Given the description of an element on the screen output the (x, y) to click on. 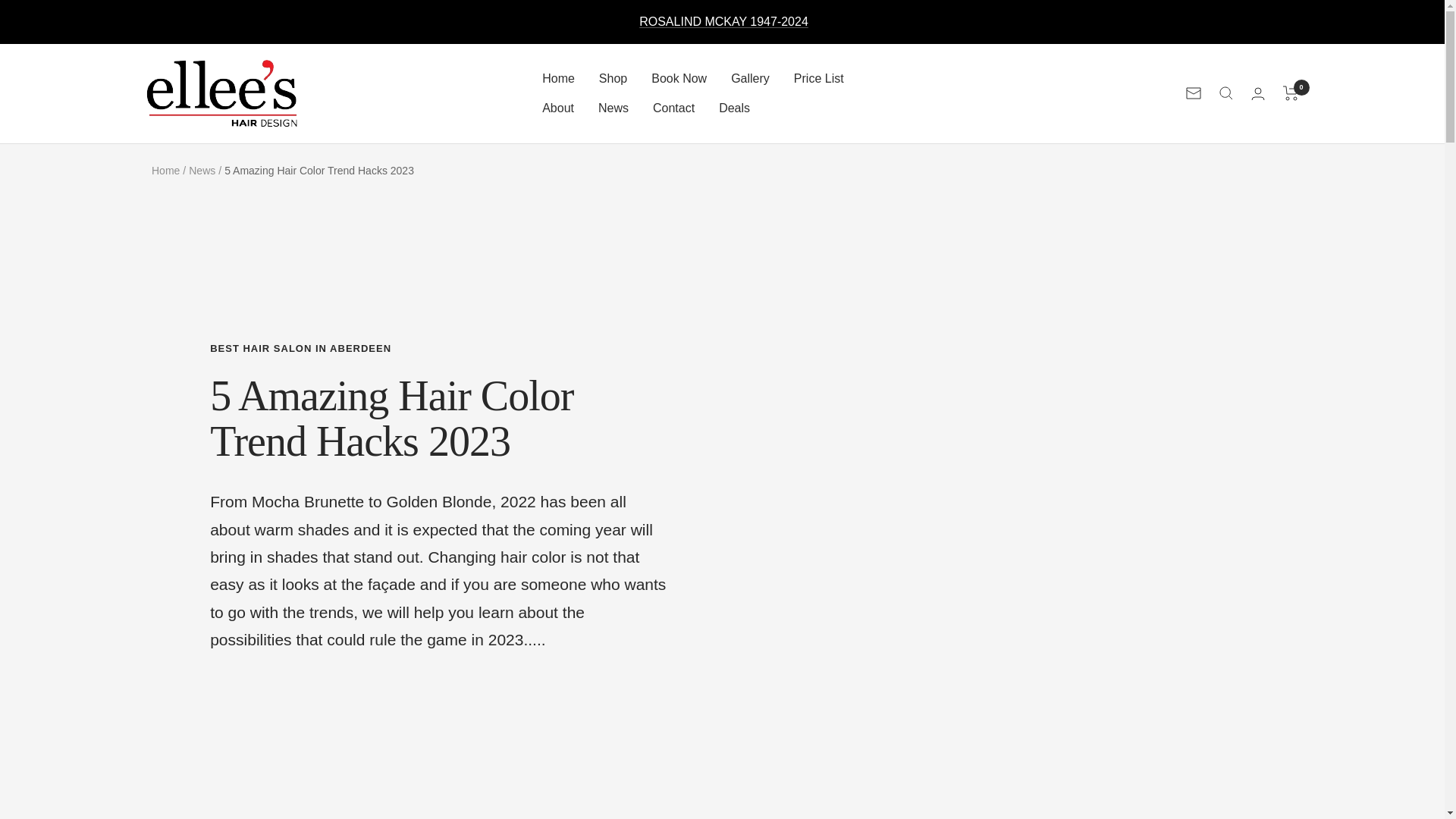
Gallery (750, 78)
Shop (612, 78)
News (613, 107)
Contact (673, 107)
Newsletter (1193, 92)
Home (558, 78)
Book Now (678, 78)
Deals (734, 107)
About (557, 107)
BEST HAIR SALON IN ABERDEEN (438, 348)
